Given the description of an element on the screen output the (x, y) to click on. 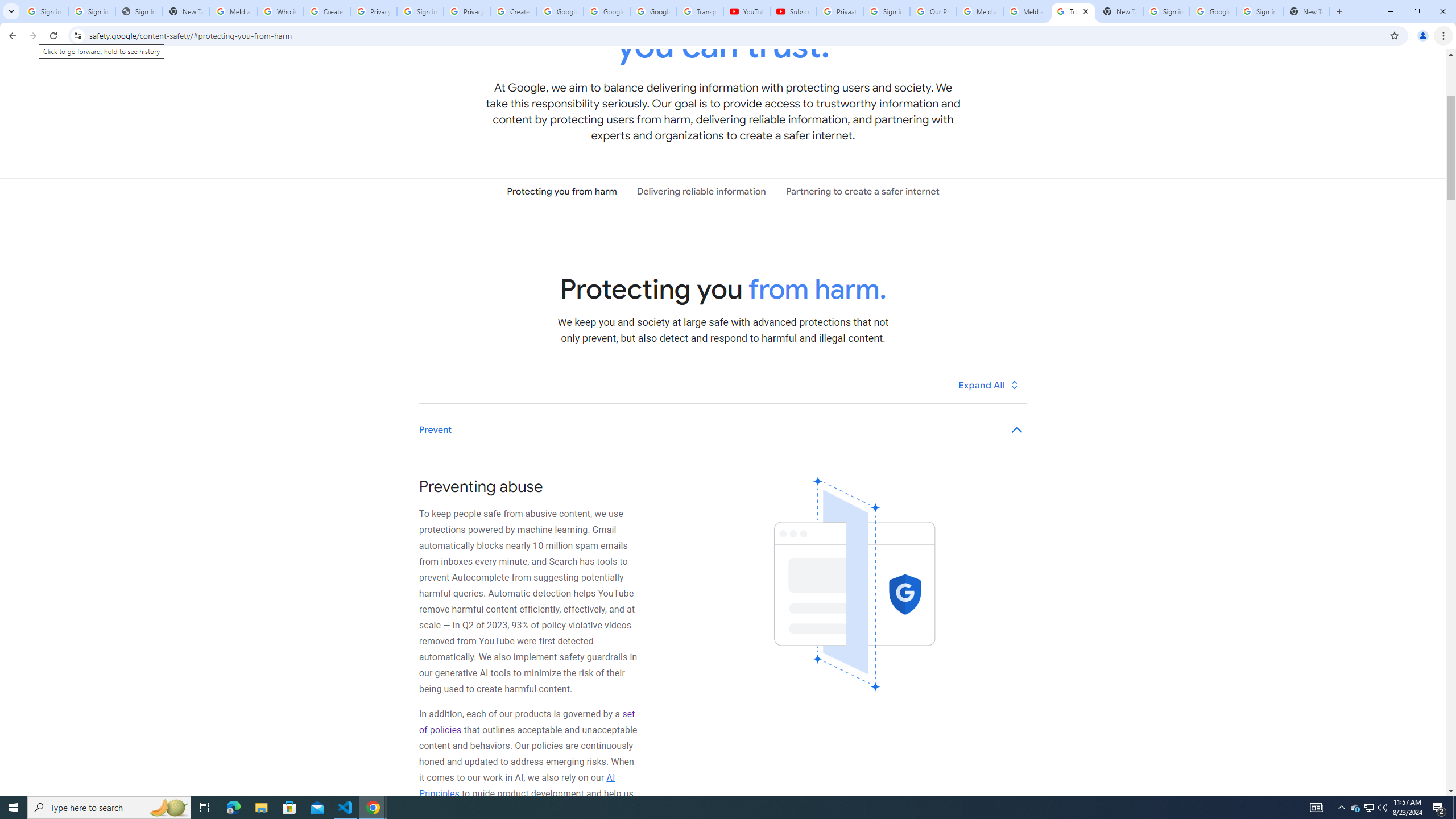
Google Account (652, 11)
Prevent (723, 429)
YouTube (745, 11)
Sign in - Google Accounts (886, 11)
